Given the description of an element on the screen output the (x, y) to click on. 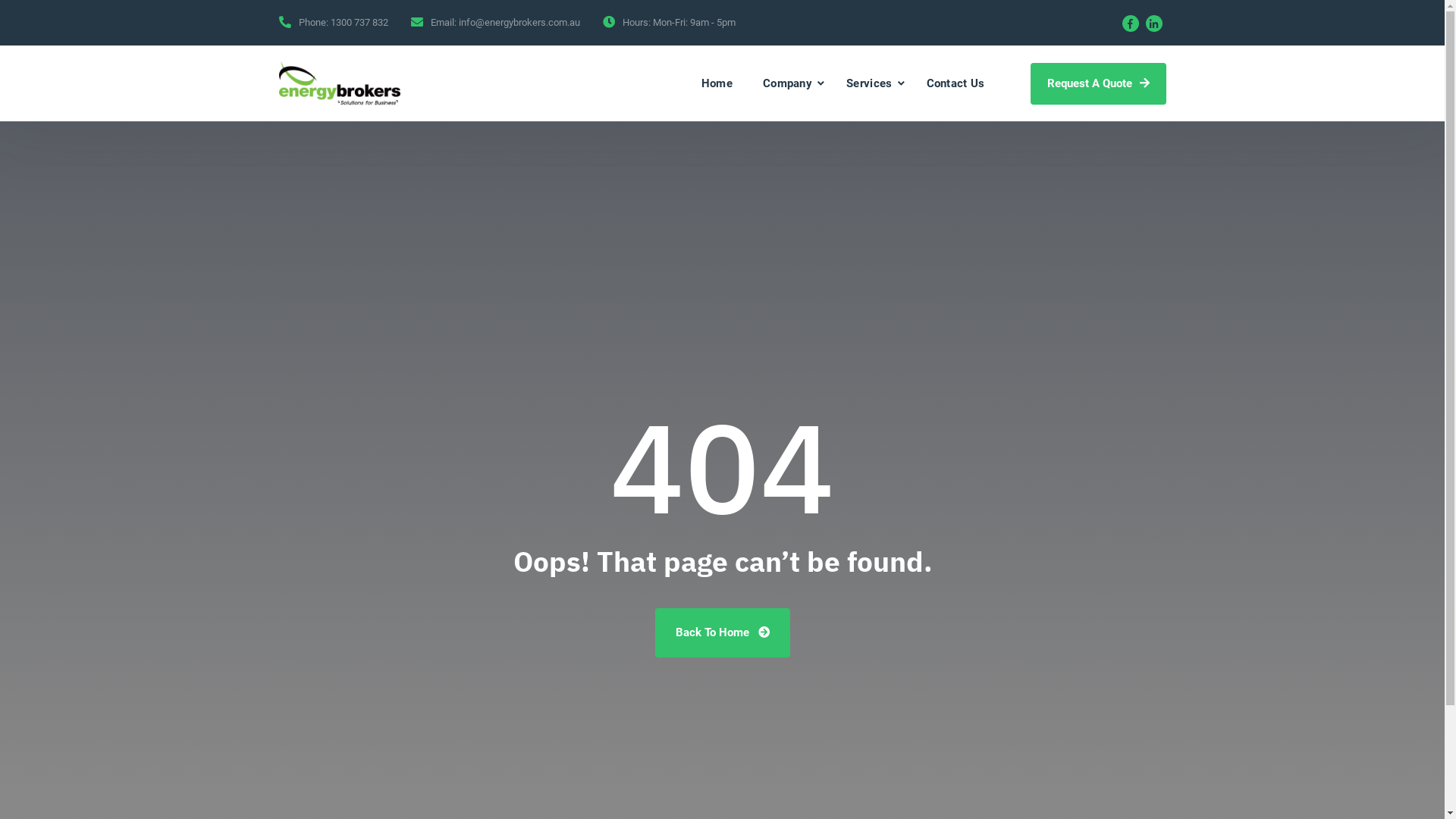
Contact Us Element type: text (948, 83)
Facebook Element type: hover (1130, 23)
Request A Quote Element type: text (1097, 82)
Services Element type: text (868, 83)
info@energybrokers.com.au Element type: text (518, 22)
Company Element type: text (787, 83)
Back To Home Element type: text (722, 632)
Linkedin Element type: hover (1153, 23)
Energybrokers - Solutions for Business Element type: hover (339, 82)
1300 737 832 Element type: text (359, 22)
Home Element type: text (716, 83)
